Given the description of an element on the screen output the (x, y) to click on. 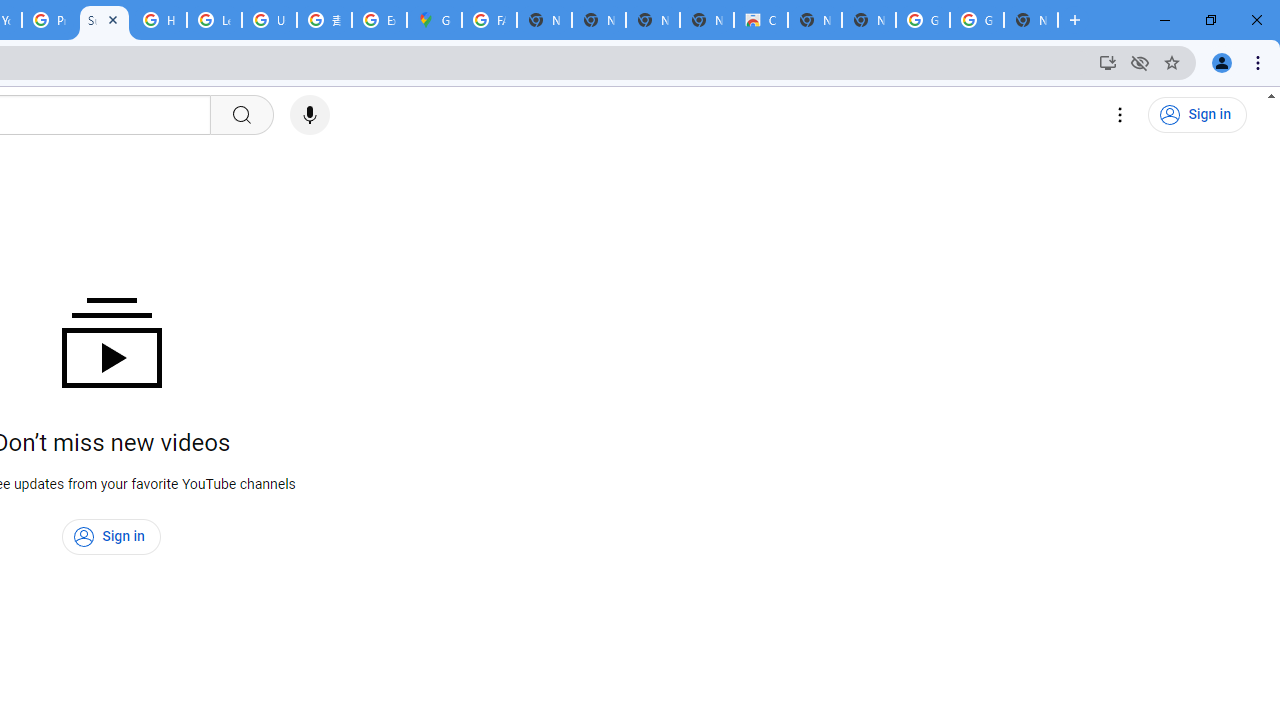
Google Images (922, 20)
Google Images (976, 20)
Install YouTube (1107, 62)
New Tab (1030, 20)
